Given the description of an element on the screen output the (x, y) to click on. 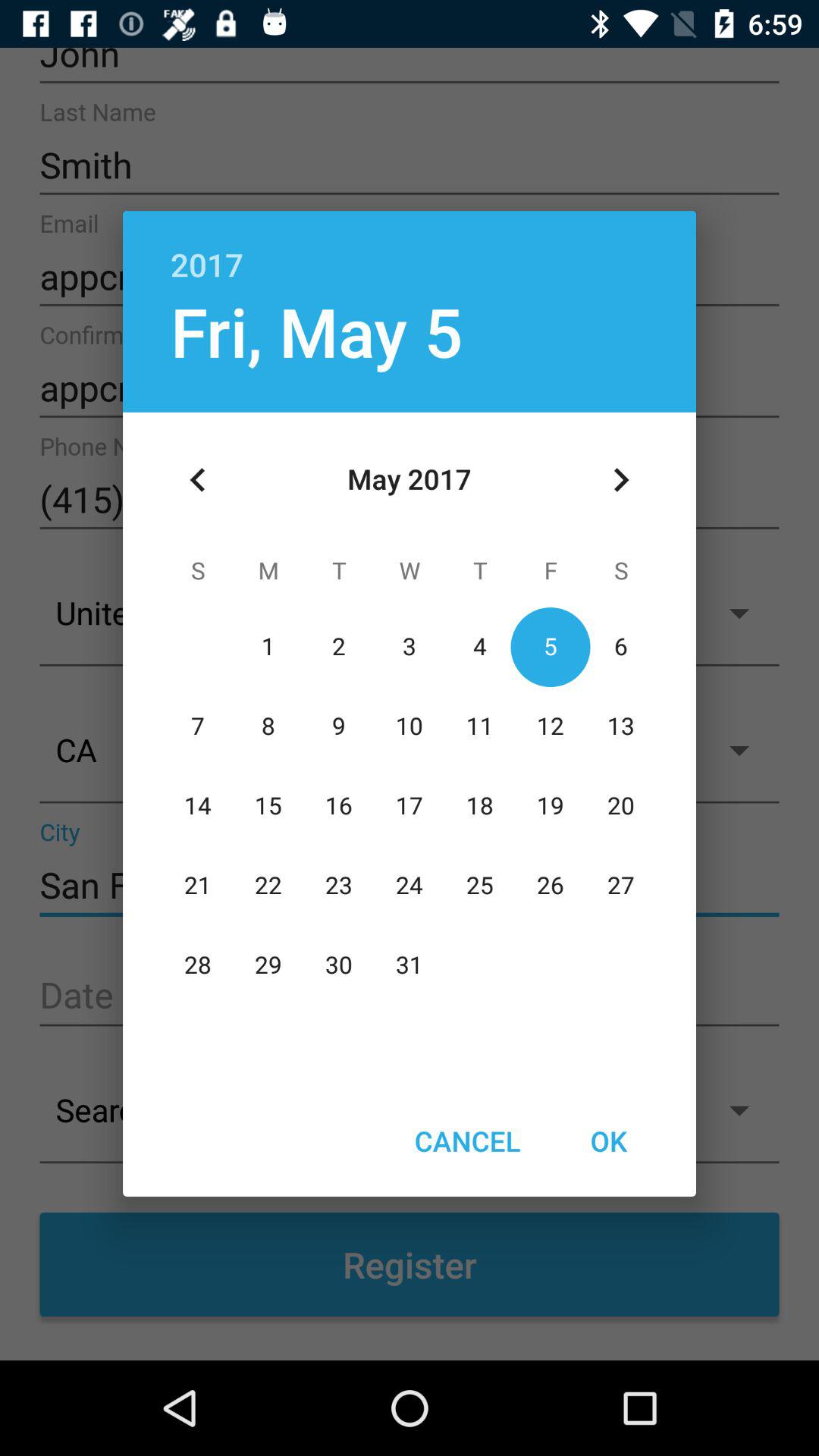
open item below 2017 item (316, 331)
